Given the description of an element on the screen output the (x, y) to click on. 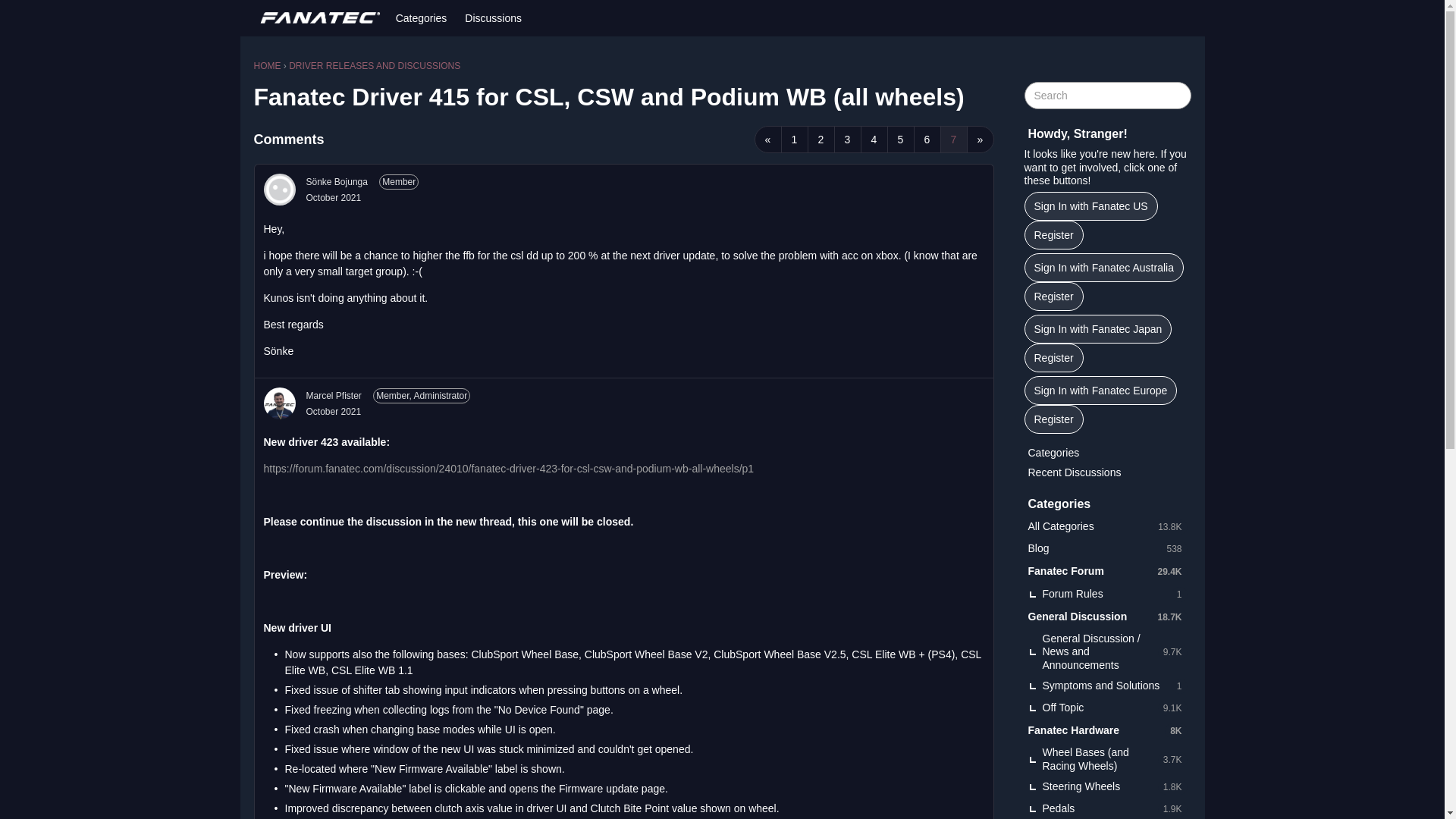
538 discussions (1173, 548)
1,875 discussions (1172, 808)
3 (847, 139)
Categories (422, 17)
October 22, 2021 3:31PM (333, 411)
Enter your search term. (1107, 94)
18,720 discussions (1168, 616)
9,652 discussions (1172, 652)
1,776 discussions (1172, 786)
13,799 discussions (1168, 526)
